Given the description of an element on the screen output the (x, y) to click on. 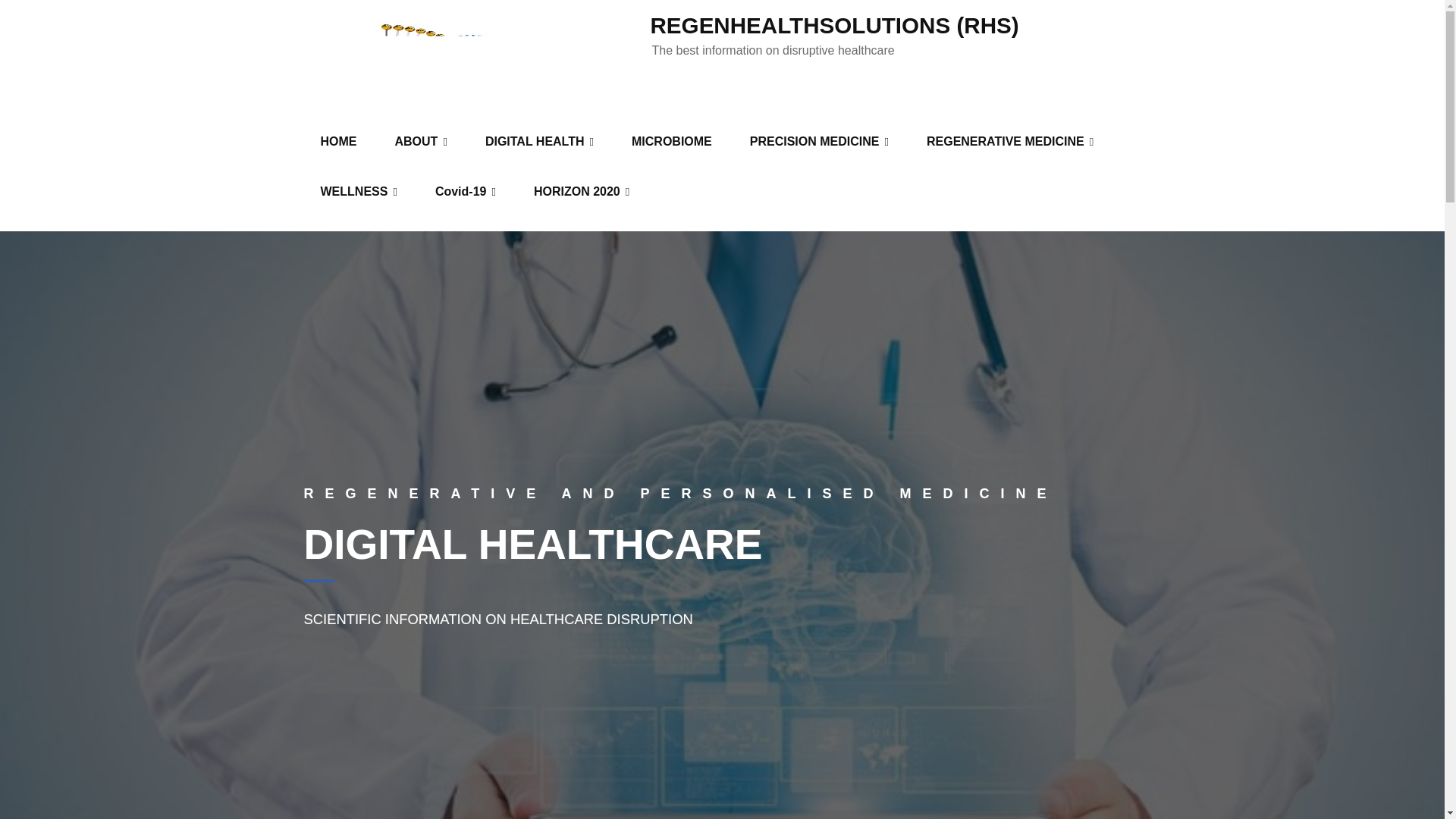
DIGITAL HEALTH (539, 142)
REGENERATIVE MEDICINE (1010, 142)
ABOUT (421, 142)
PRECISION MEDICINE (818, 142)
HOME (338, 142)
MICROBIOME (671, 142)
